Given the description of an element on the screen output the (x, y) to click on. 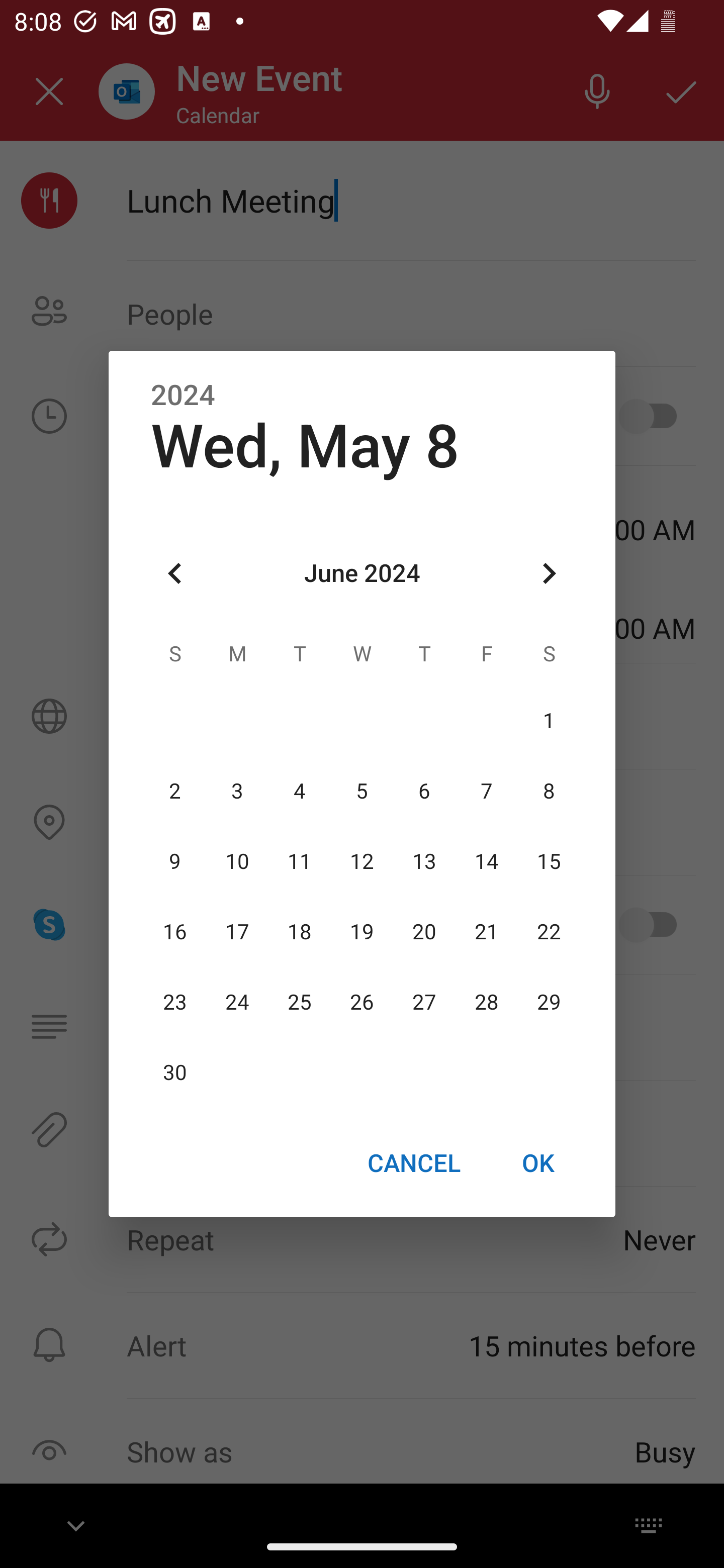
2024 (182, 395)
Wed, May 8 (304, 446)
Previous month (174, 573)
Next month (548, 573)
1 01 June 2024 (548, 720)
2 02 June 2024 (175, 790)
3 03 June 2024 (237, 790)
4 04 June 2024 (299, 790)
5 05 June 2024 (361, 790)
6 06 June 2024 (424, 790)
7 07 June 2024 (486, 790)
8 08 June 2024 (548, 790)
9 09 June 2024 (175, 861)
10 10 June 2024 (237, 861)
11 11 June 2024 (299, 861)
12 12 June 2024 (361, 861)
13 13 June 2024 (424, 861)
14 14 June 2024 (486, 861)
15 15 June 2024 (548, 861)
16 16 June 2024 (175, 931)
